Given the description of an element on the screen output the (x, y) to click on. 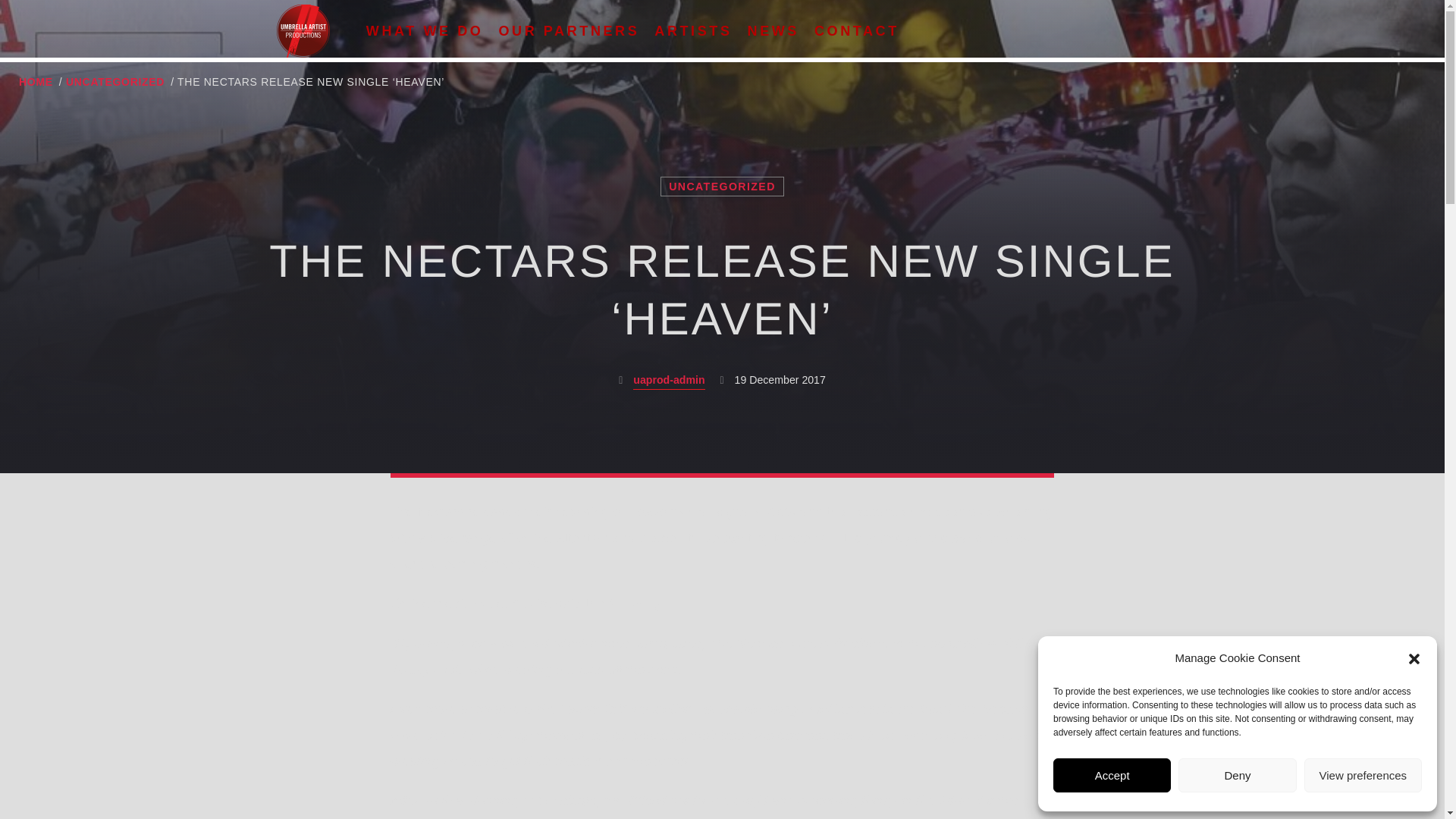
Posts by uaprod-admin (668, 381)
UNCATEGORIZED (722, 186)
CONTACT (856, 30)
NEWS (772, 30)
ARTISTS (692, 30)
UNCATEGORIZED (114, 81)
uaprod-admin (668, 381)
View preferences (1363, 775)
WHAT WE DO (425, 30)
HOME (35, 81)
Accept (1111, 775)
Deny (1236, 775)
OUR PARTNERS (568, 30)
